Given the description of an element on the screen output the (x, y) to click on. 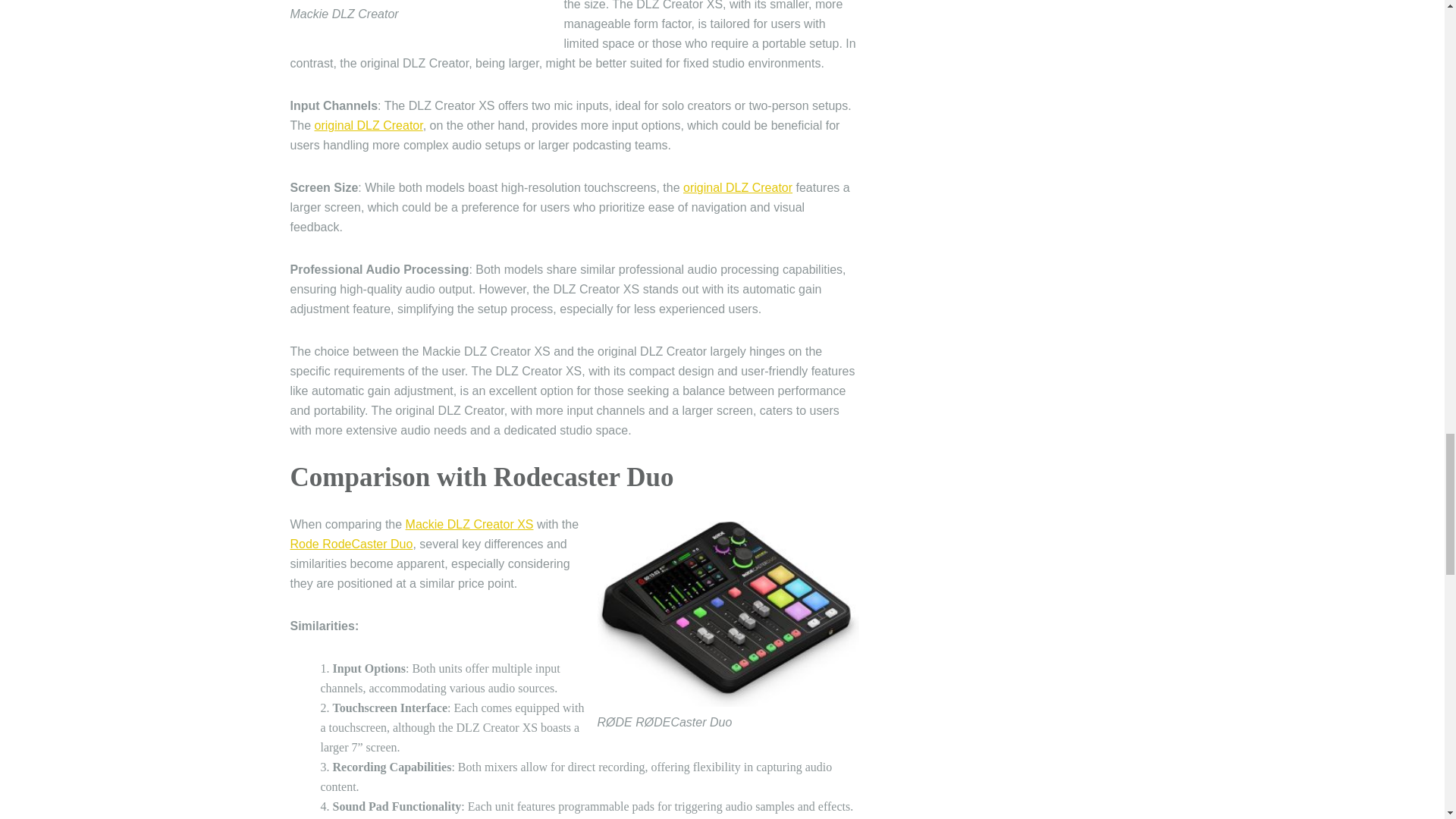
Rode RodeCaster Duo (350, 543)
Mackie DLZ Creator XS (470, 523)
original DLZ Creator (368, 124)
original DLZ Creator (737, 187)
